Given the description of an element on the screen output the (x, y) to click on. 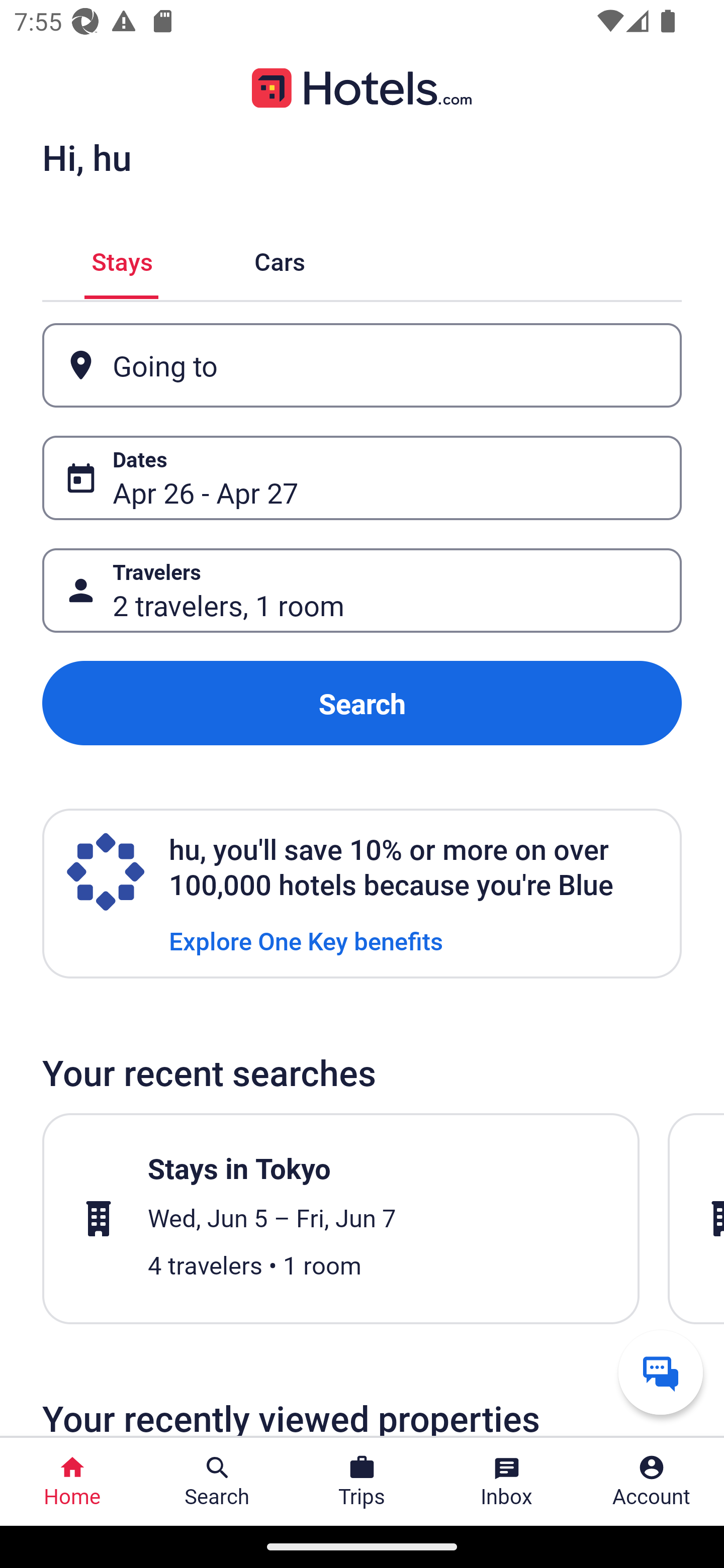
Hi, hu (86, 156)
Cars (279, 259)
Going to Button (361, 365)
Dates Button Apr 26 - Apr 27 (361, 477)
Travelers Button 2 travelers, 1 room (361, 590)
Search (361, 702)
Get help from a virtual agent (660, 1371)
Search Search Button (216, 1481)
Trips Trips Button (361, 1481)
Inbox Inbox Button (506, 1481)
Account Profile. Button (651, 1481)
